Given the description of an element on the screen output the (x, y) to click on. 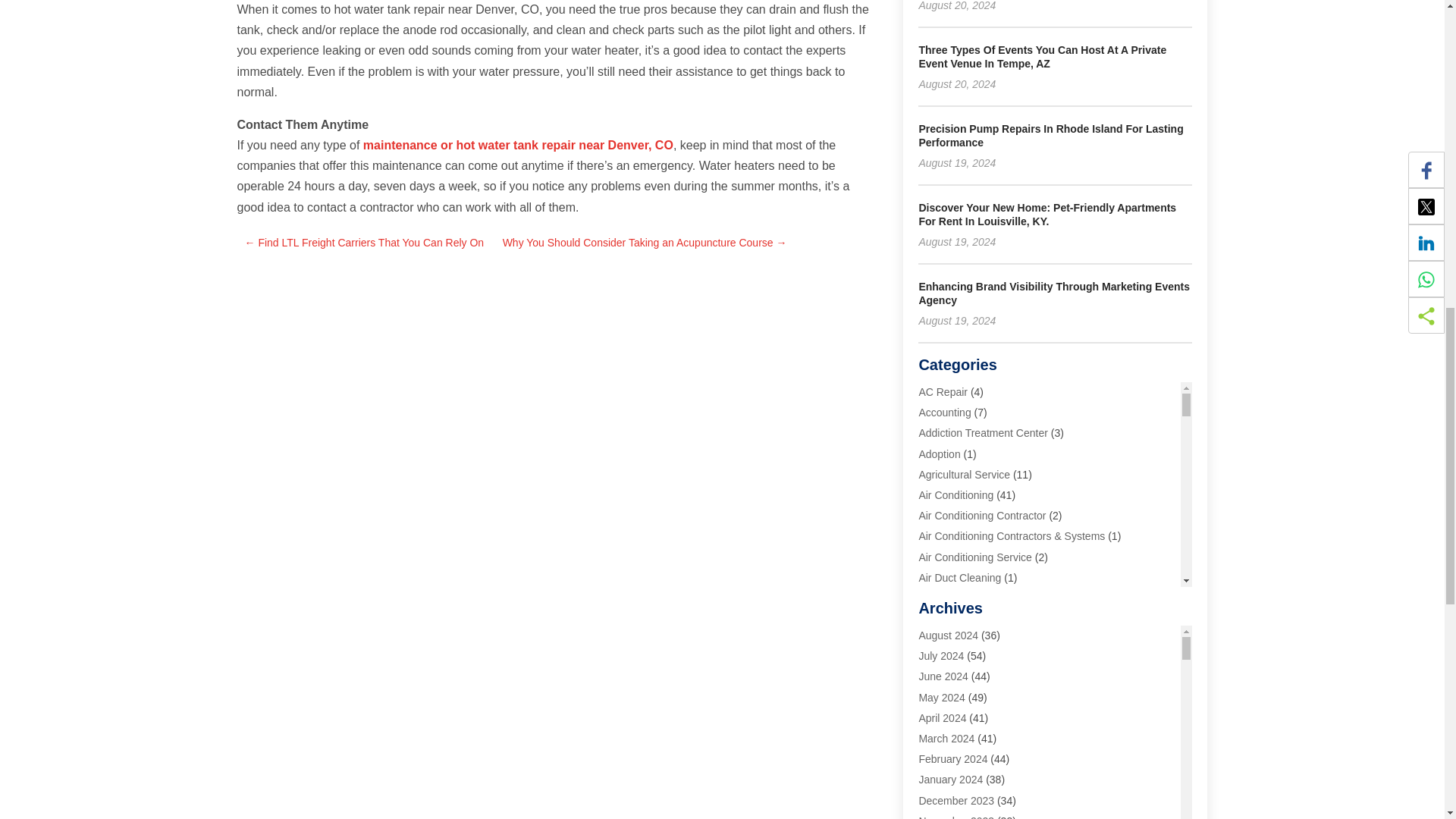
Agricultural Service (964, 474)
Enhancing Brand Visibility Through Marketing Events Agency (1053, 293)
Air Duct Cleaning (959, 577)
Accounting (944, 412)
Aluminum (941, 639)
Air Conditioning Contractor (981, 515)
Air Conditioning (955, 494)
Air Conditioning Service (974, 556)
